Given the description of an element on the screen output the (x, y) to click on. 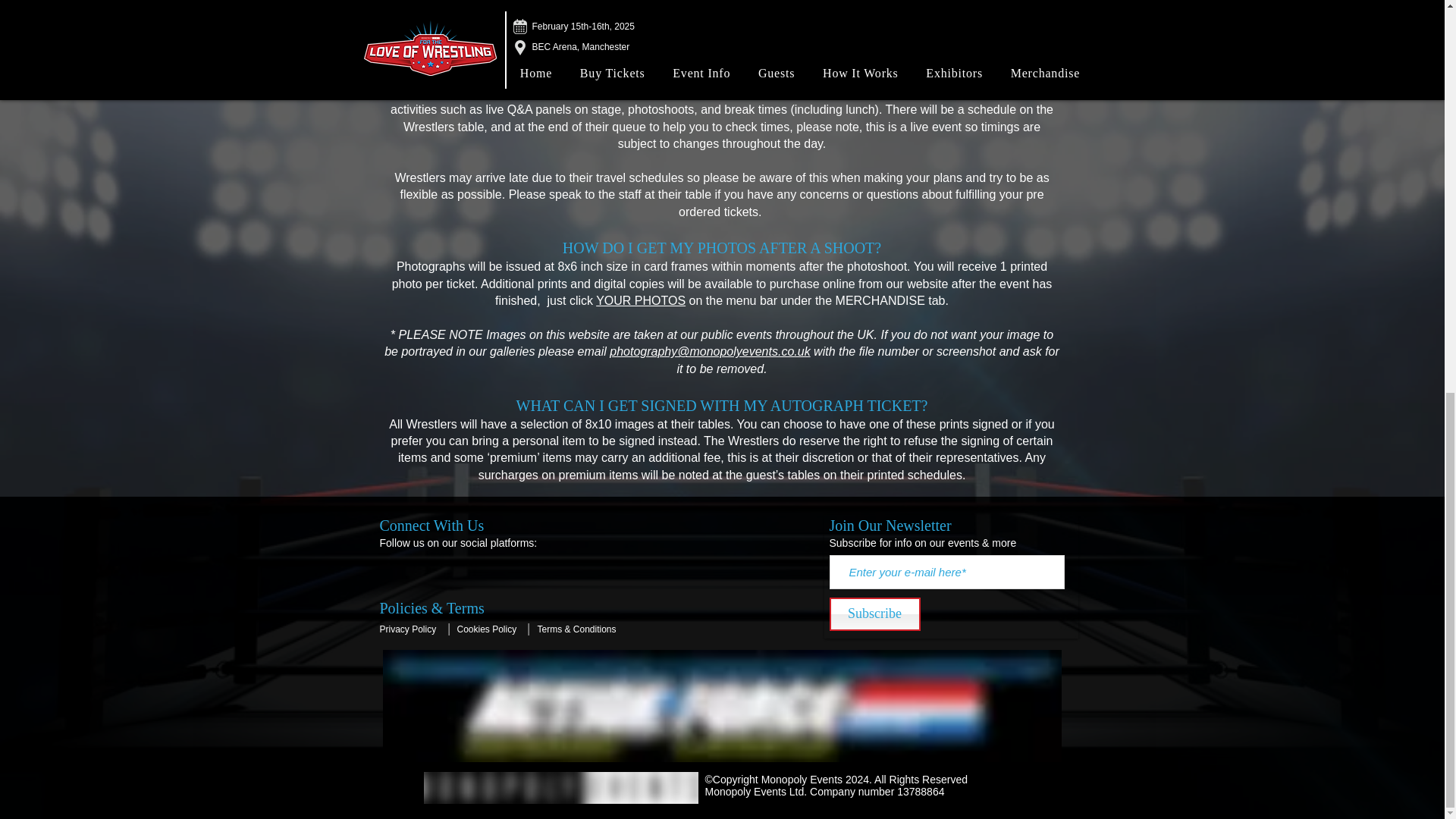
Privacy Policy (406, 629)
YOUR PHOTOS (640, 300)
Cookies Policy (486, 629)
Subscribe (874, 613)
